Given the description of an element on the screen output the (x, y) to click on. 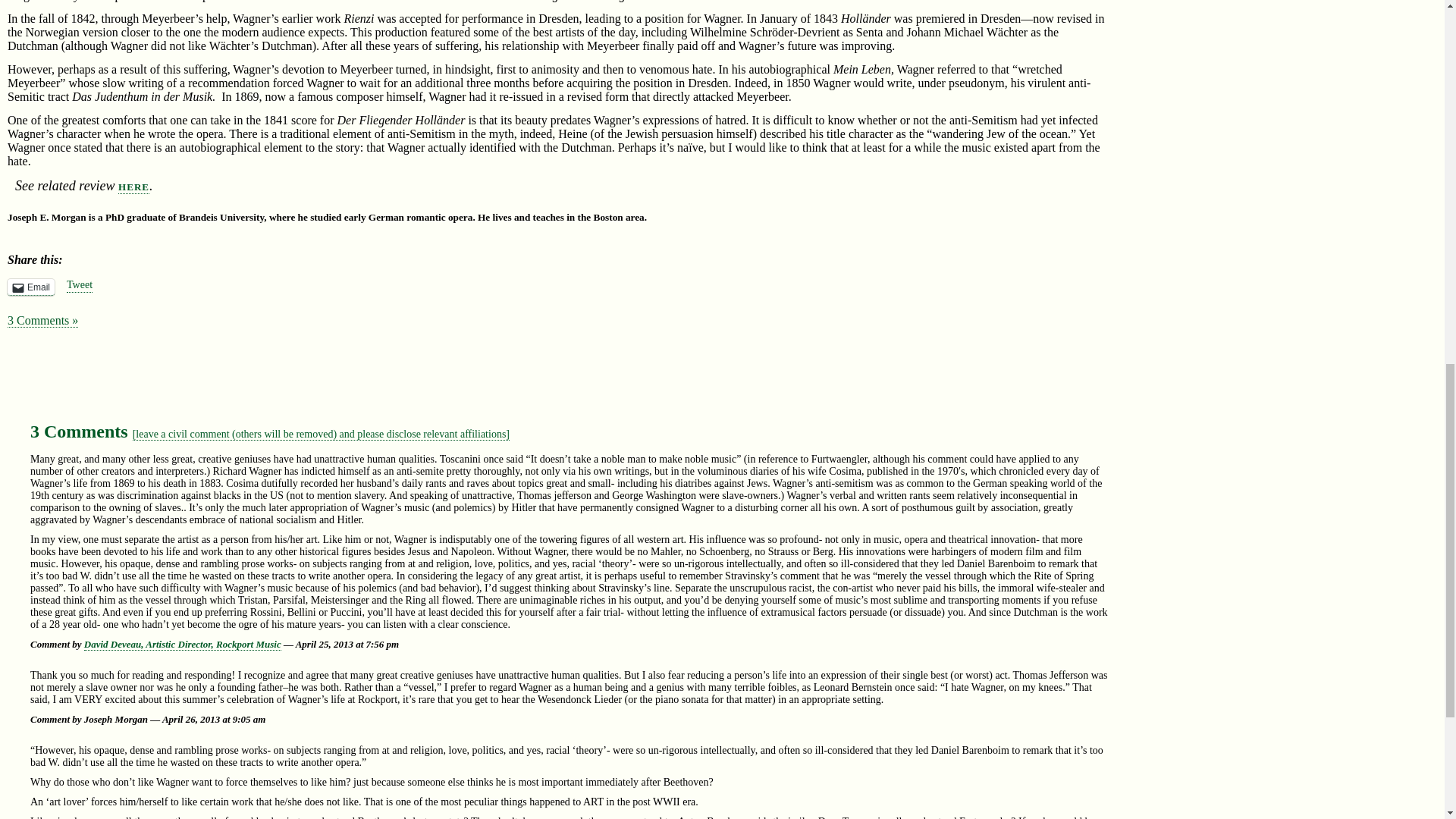
here (133, 186)
Email (31, 287)
Tweet (79, 285)
David Deveau, Artistic Director, Rockport Music (182, 644)
Leave a comment (320, 434)
Click to email a link to a friend (31, 287)
